Given the description of an element on the screen output the (x, y) to click on. 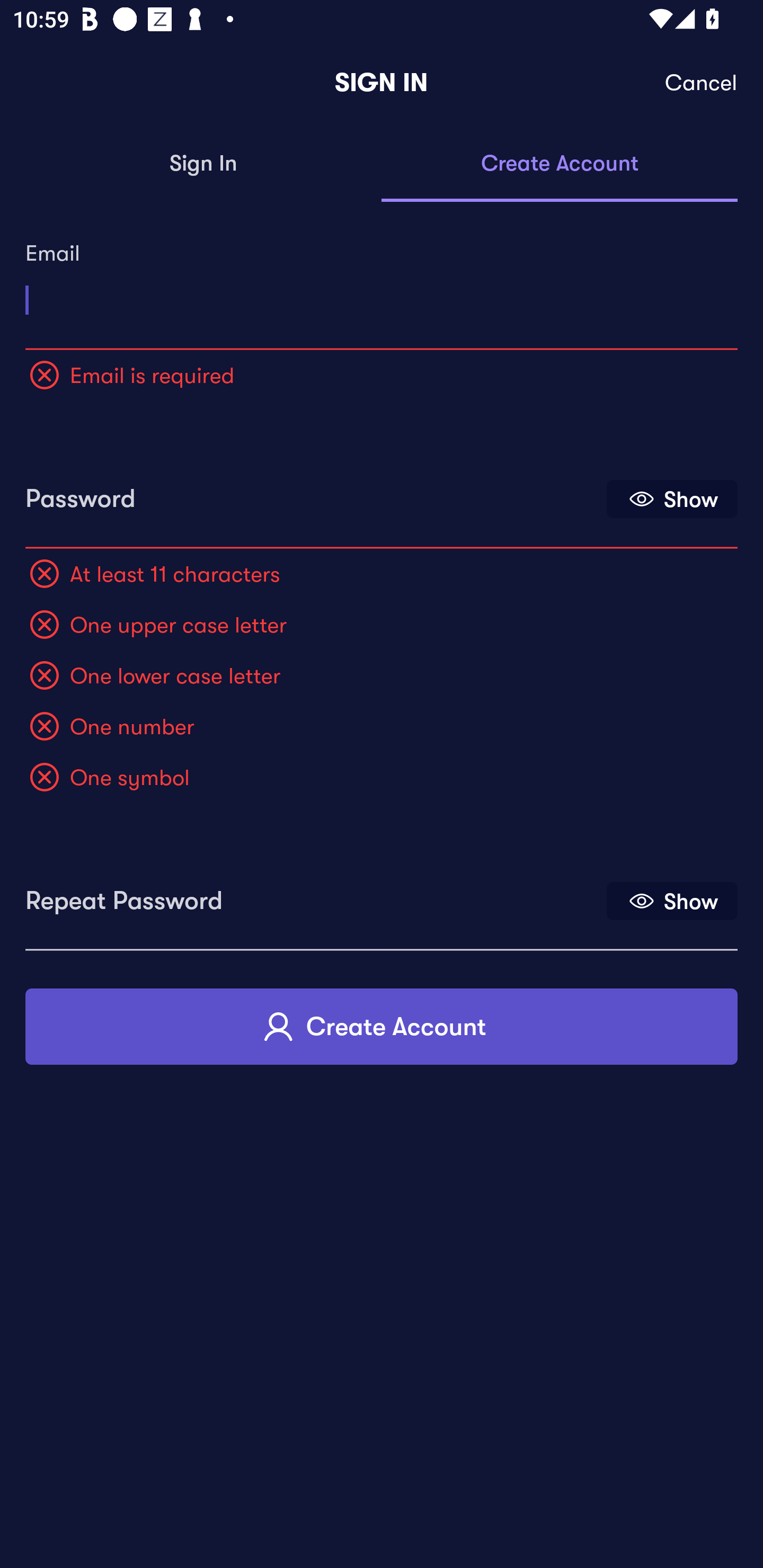
Cancel (701, 82)
Sign In (203, 164)
Create Account (559, 164)
Email, error message, Email is required (381, 293)
Password, error message, At least 11 characters (314, 493)
Show Password Show (671, 498)
Repeat Password (314, 894)
Show Repeat Password Show (671, 900)
Create Account (381, 1025)
